Given the description of an element on the screen output the (x, y) to click on. 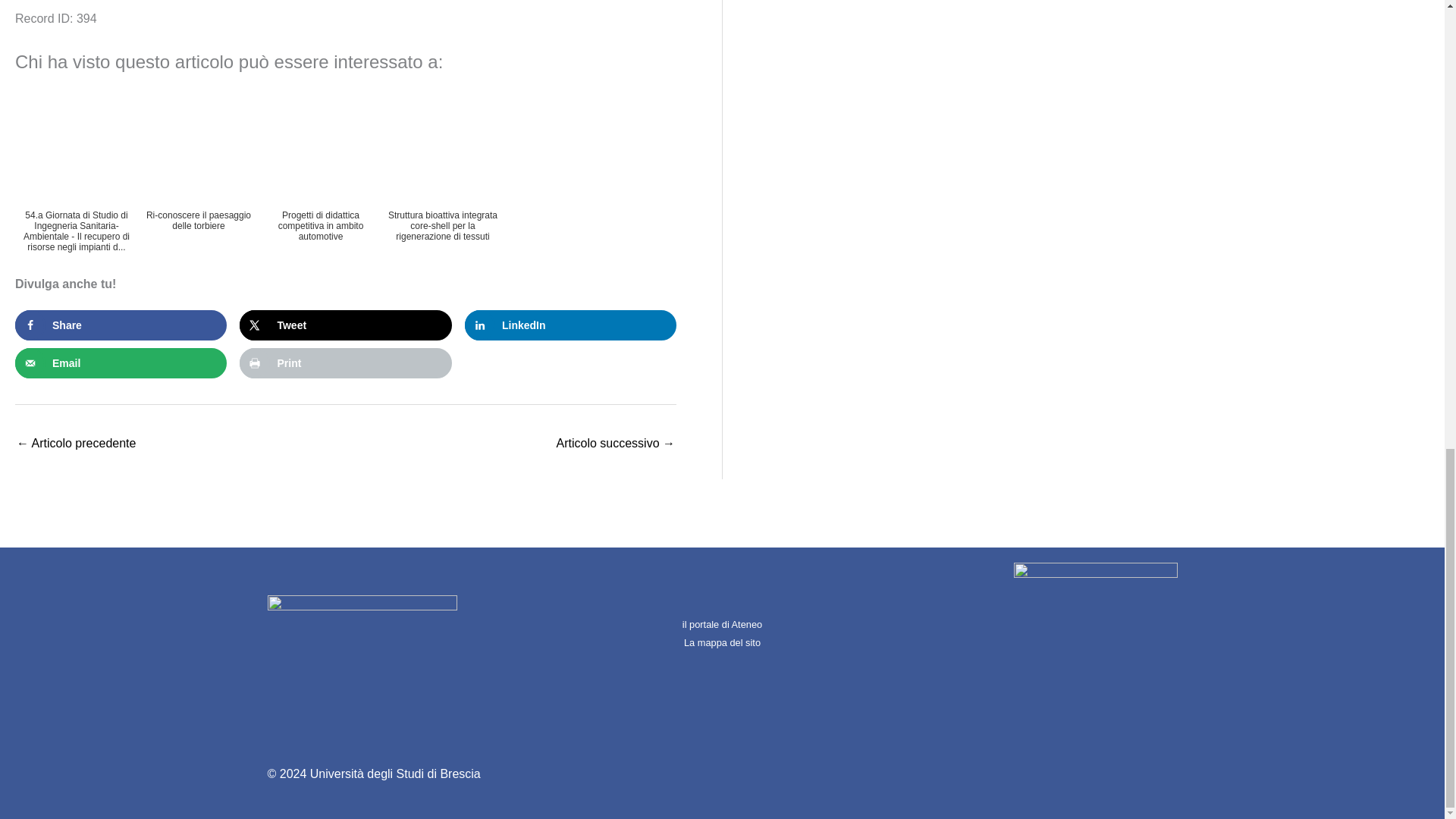
Share on X (345, 325)
Send over email (120, 363)
Share on LinkedIn (570, 325)
Print this webpage (345, 363)
Pannello dissipativo deformabile (75, 444)
Share on Facebook (120, 325)
